Given the description of an element on the screen output the (x, y) to click on. 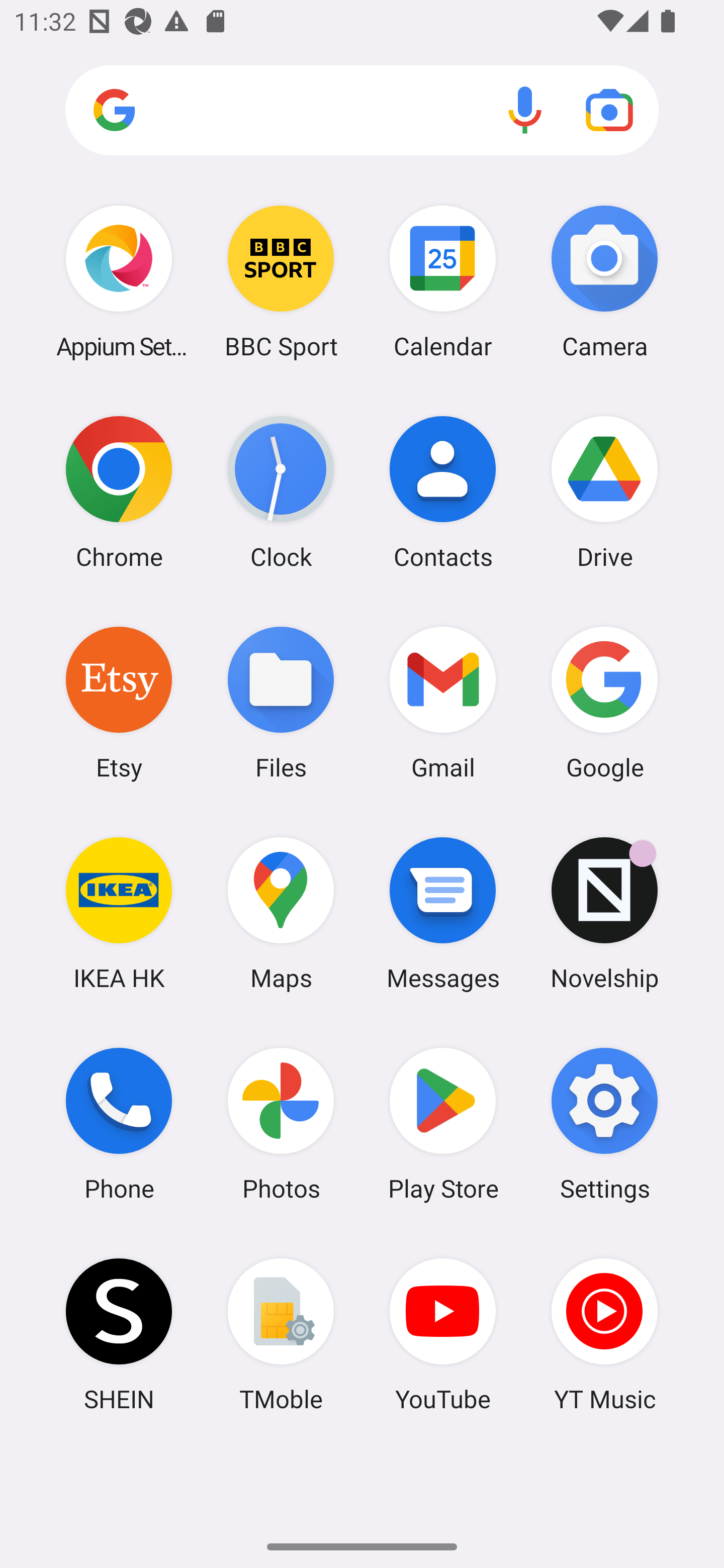
Search apps, web and more (361, 110)
Voice search (524, 109)
Google Lens (608, 109)
Appium Settings (118, 281)
BBC Sport (280, 281)
Calendar (443, 281)
Camera (604, 281)
Chrome (118, 492)
Clock (280, 492)
Contacts (443, 492)
Drive (604, 492)
Etsy (118, 702)
Files (280, 702)
Gmail (443, 702)
Google (604, 702)
IKEA HK (118, 913)
Maps (280, 913)
Messages (443, 913)
Novelship Novelship has 5 notifications (604, 913)
Phone (118, 1124)
Photos (280, 1124)
Play Store (443, 1124)
Settings (604, 1124)
SHEIN (118, 1334)
TMoble (280, 1334)
YouTube (443, 1334)
YT Music (604, 1334)
